Given the description of an element on the screen output the (x, y) to click on. 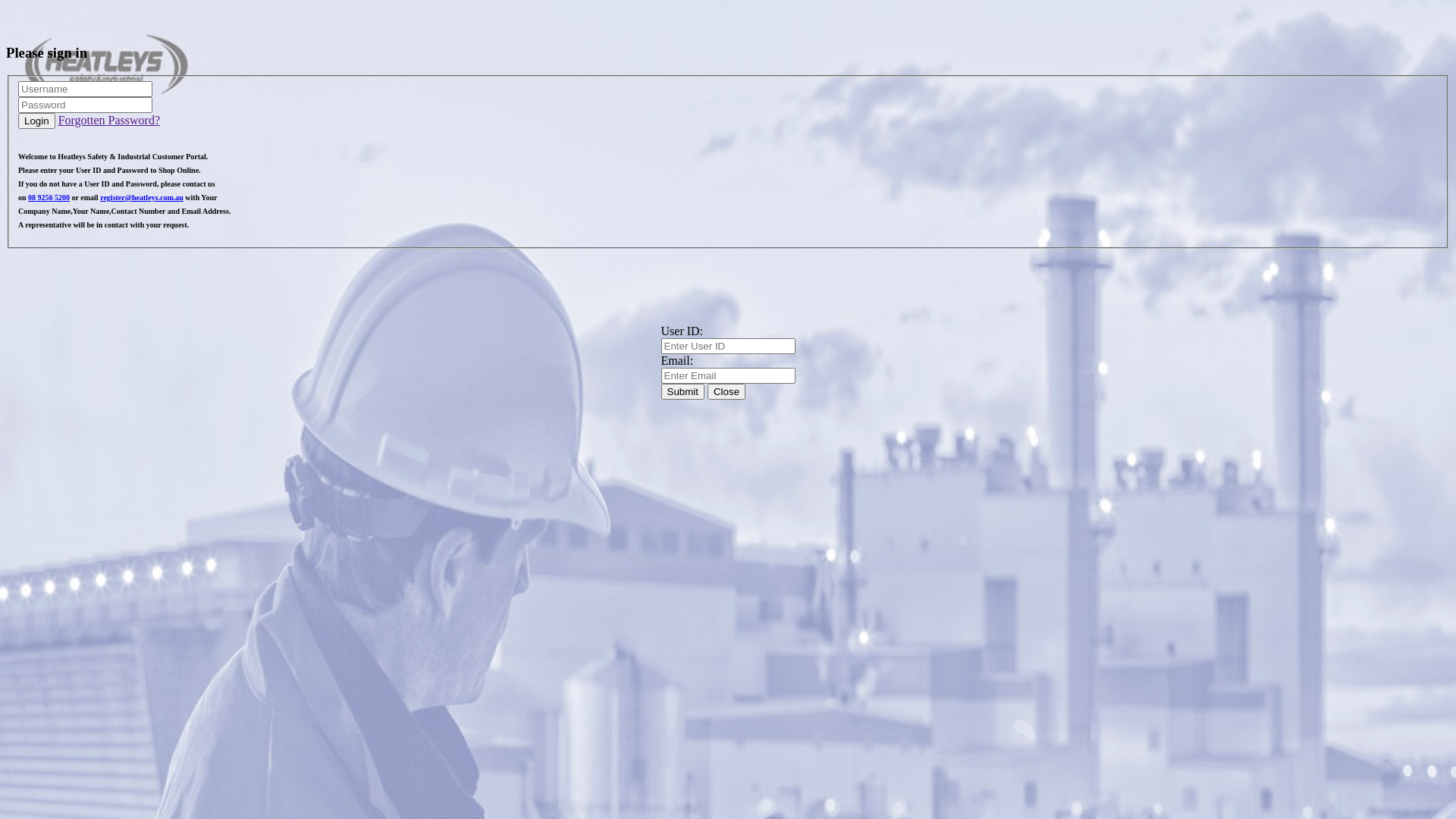
register@heatleys.com.au Element type: text (141, 197)
Forgotten Password? Element type: text (109, 119)
Login Element type: text (36, 120)
Close Element type: text (726, 391)
08 9256 5200 Element type: text (48, 197)
Submit Element type: text (682, 391)
